Given the description of an element on the screen output the (x, y) to click on. 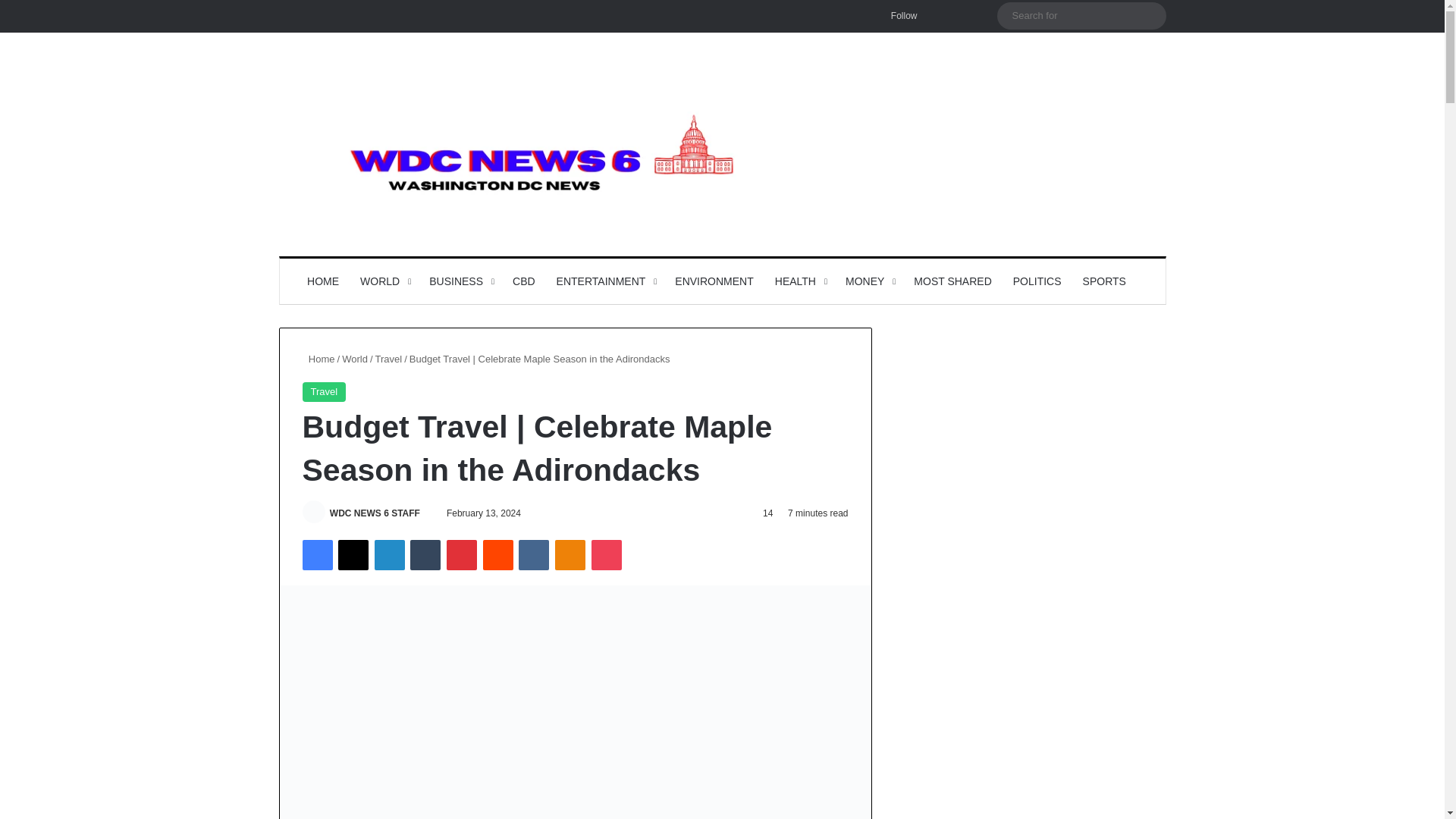
Travel (389, 358)
ENTERTAINMENT (605, 280)
HOME (323, 280)
Random Article (963, 15)
Reddit (498, 554)
Home (317, 358)
BUSINESS (460, 280)
ENVIRONMENT (712, 280)
Pocket (606, 554)
HEALTH (799, 280)
Search for (1081, 15)
MONEY (868, 280)
Follow (900, 15)
